Given the description of an element on the screen output the (x, y) to click on. 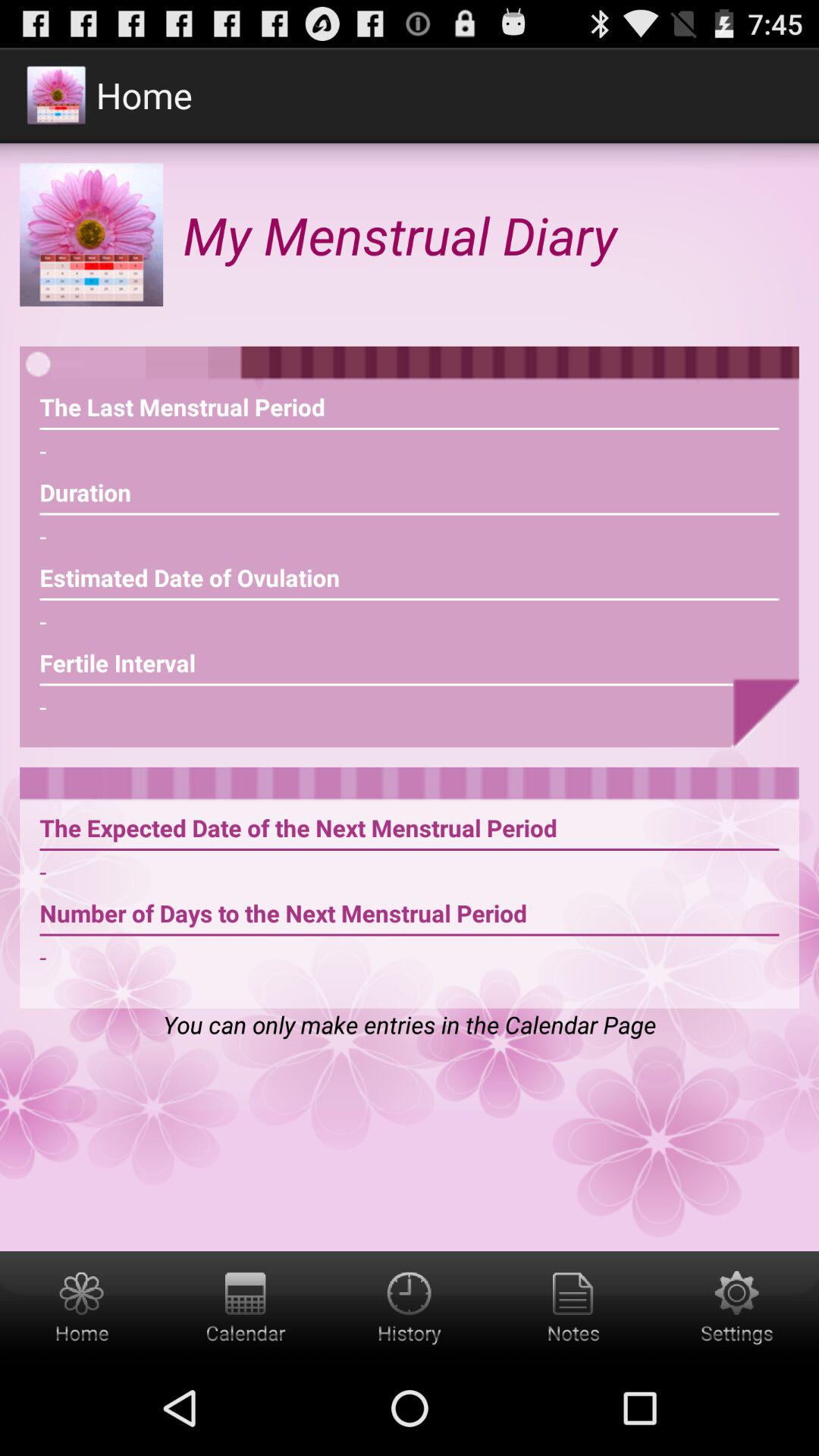
go home (81, 1305)
